Given the description of an element on the screen output the (x, y) to click on. 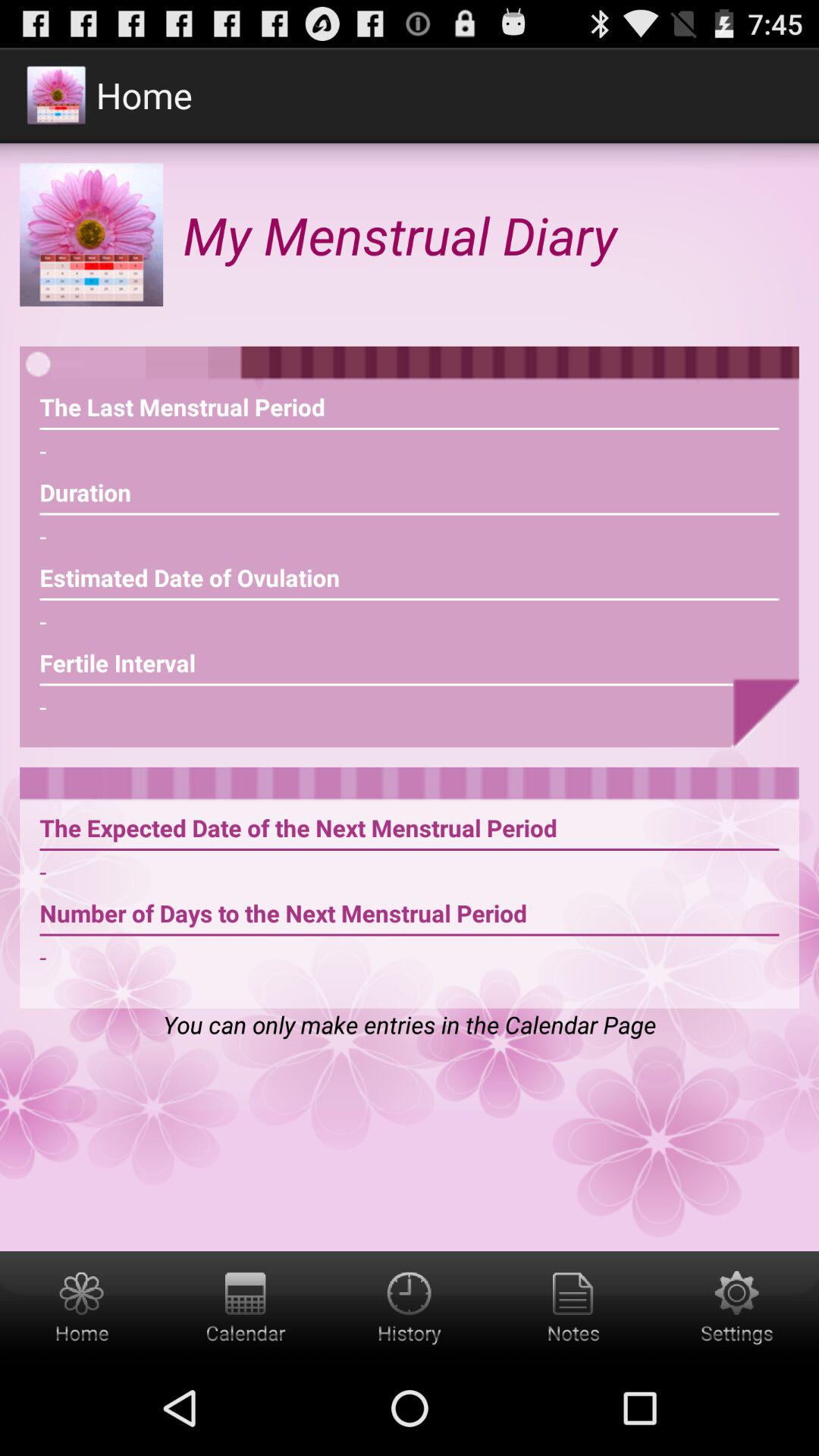
go home (81, 1305)
